Given the description of an element on the screen output the (x, y) to click on. 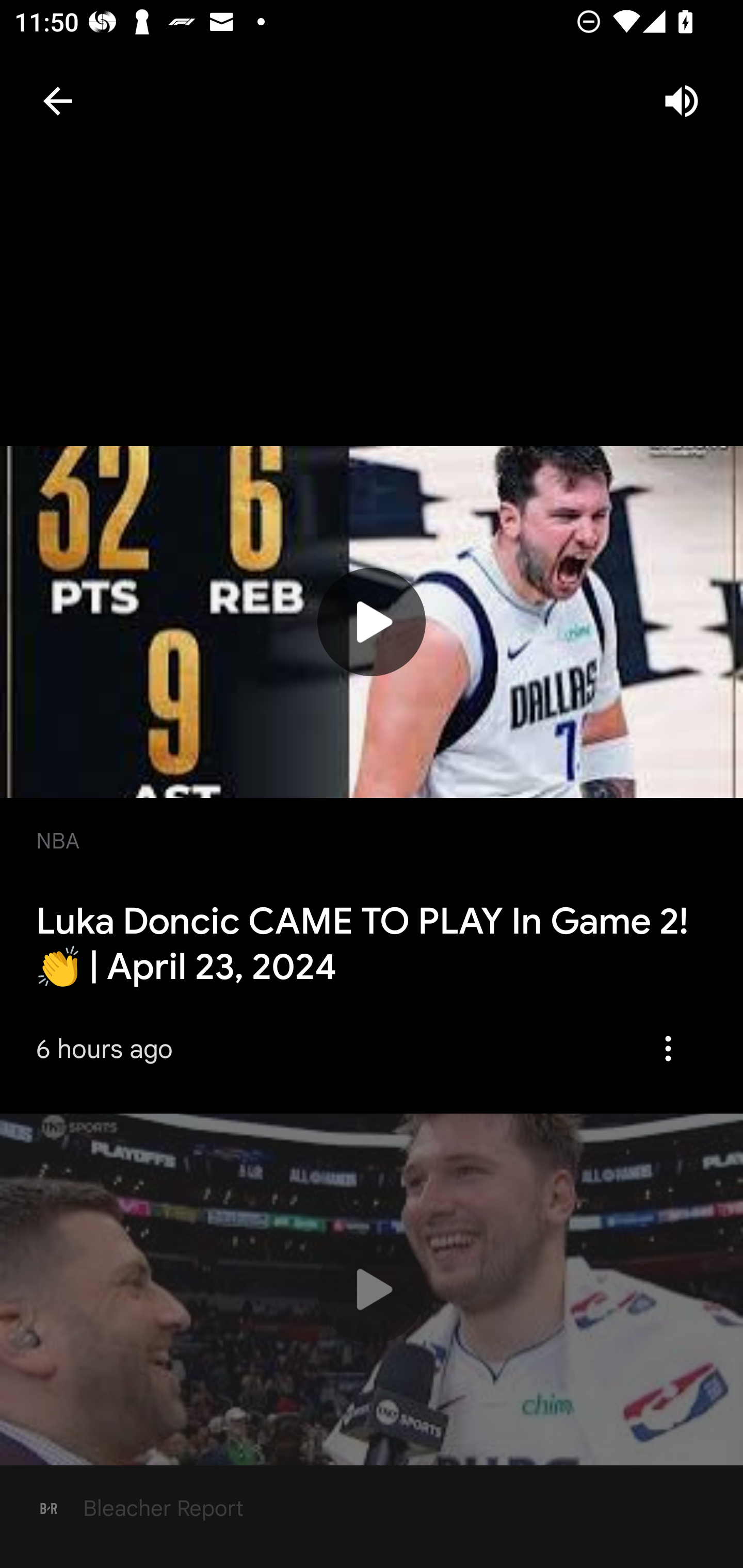
Navigate up (57, 100)
Unmute (681, 101)
Play (371, 621)
More options (675, 1048)
Play (371, 1289)
